Given the description of an element on the screen output the (x, y) to click on. 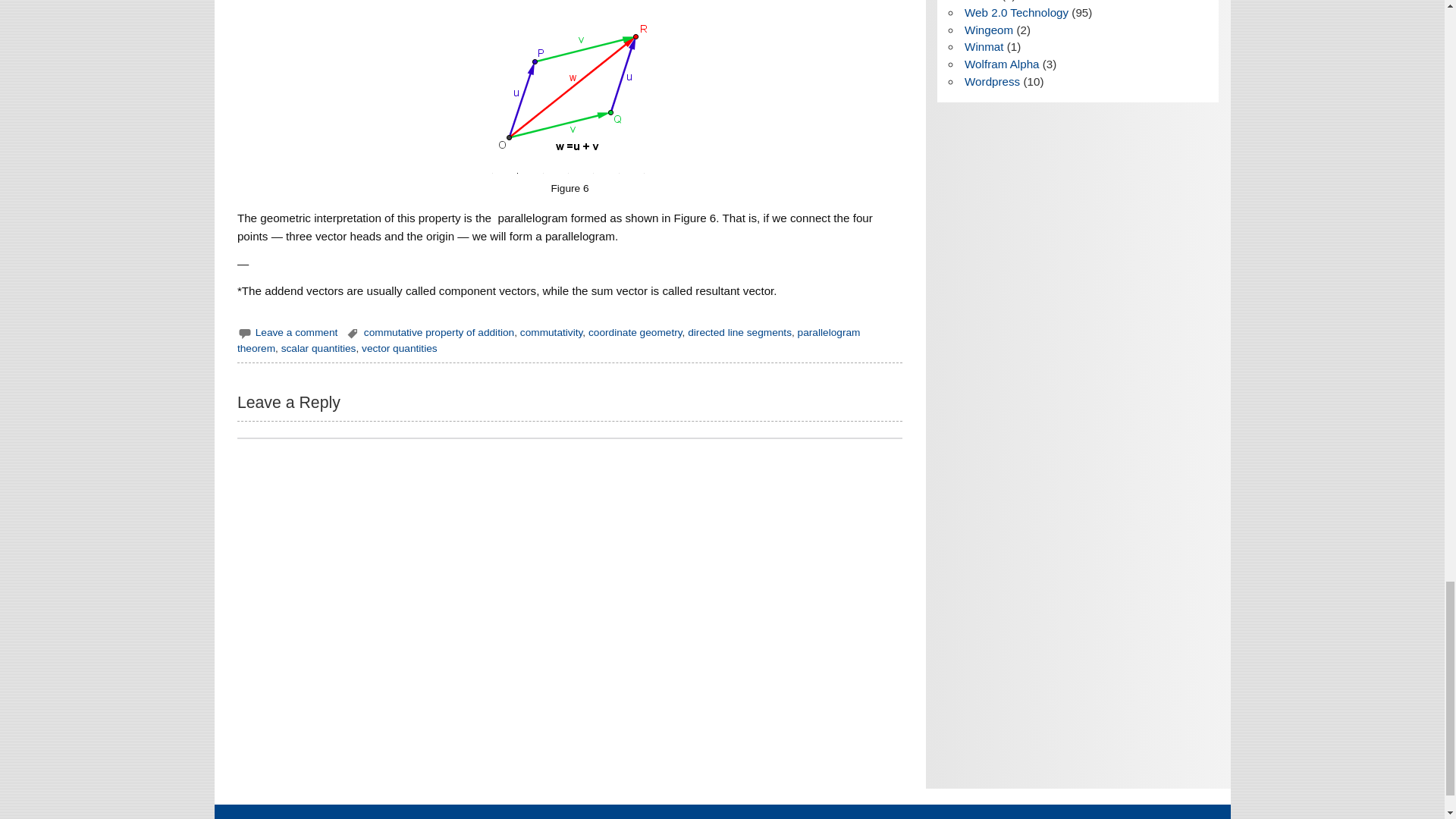
parallelogram theorem (548, 339)
Leave a comment (296, 332)
vectors1-6 (569, 93)
scalar quantities (318, 348)
commutative property of addition (438, 332)
vector quantities (399, 348)
directed line segments (739, 332)
coordinate geometry (635, 332)
commutativity (551, 332)
